Given the description of an element on the screen output the (x, y) to click on. 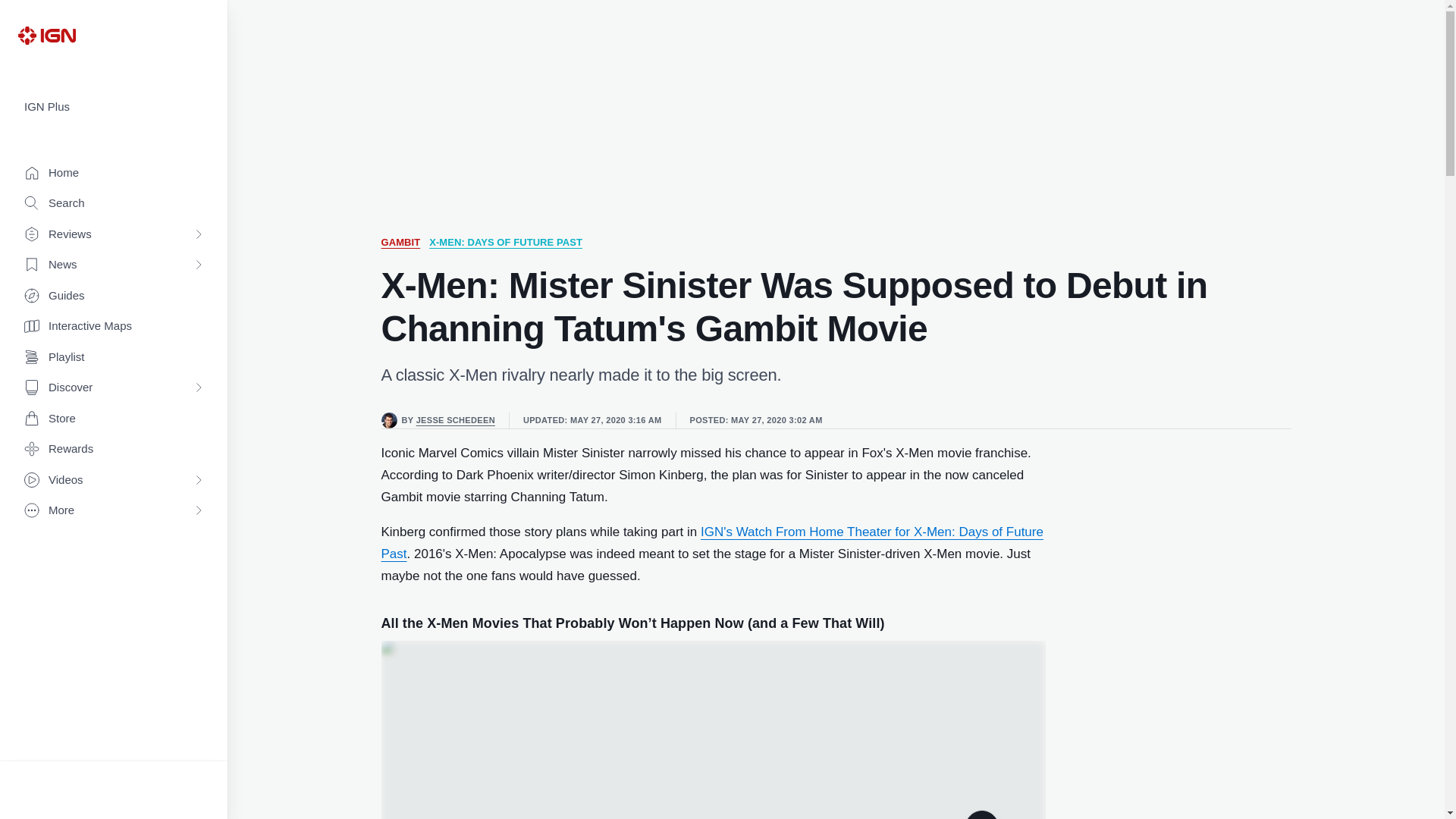
Videos (113, 480)
IGN Plus (113, 107)
More (113, 510)
IGN Logo (46, 35)
Reviews (113, 234)
Guides (113, 295)
News (113, 265)
Store (113, 418)
Guides (113, 295)
IGN Logo (46, 34)
